Given the description of an element on the screen output the (x, y) to click on. 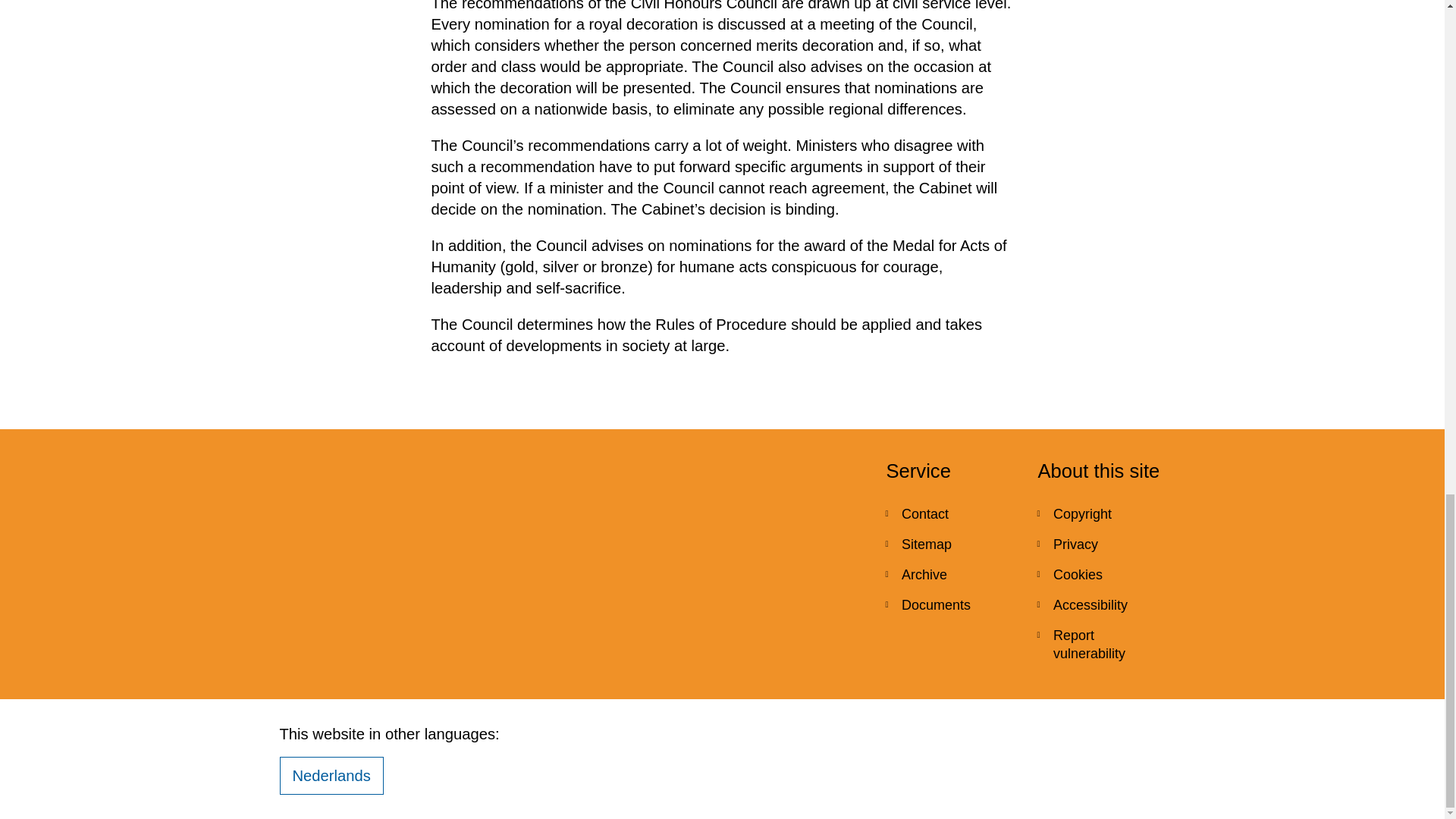
Cookies (1100, 574)
Documents (949, 604)
Nederlands (330, 775)
Report vulnerability (1100, 644)
Archive (949, 574)
Accessibility (1100, 604)
Contact (949, 513)
Privacy (1100, 544)
Copyright (1100, 513)
Sitemap (949, 544)
